Given the description of an element on the screen output the (x, y) to click on. 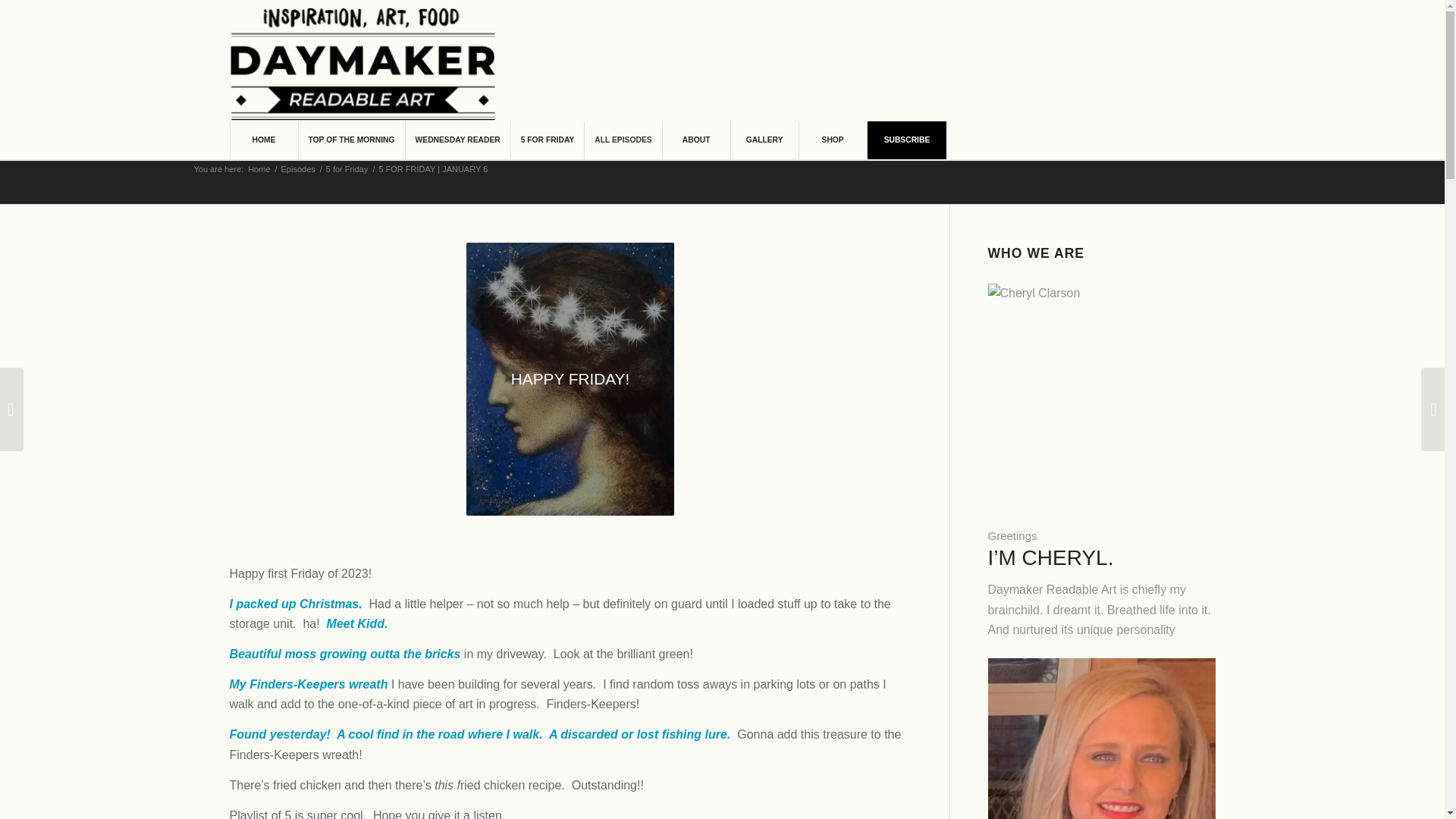
HOME (262, 139)
Episodes (298, 169)
SUBSCRIBE (906, 139)
Episodes (298, 169)
GALLERY (763, 139)
5 FOR FRIDAY (548, 139)
Home (259, 169)
5 for Friday (347, 169)
SHOP (831, 139)
WEDNESDAY READER (457, 139)
